Given the description of an element on the screen output the (x, y) to click on. 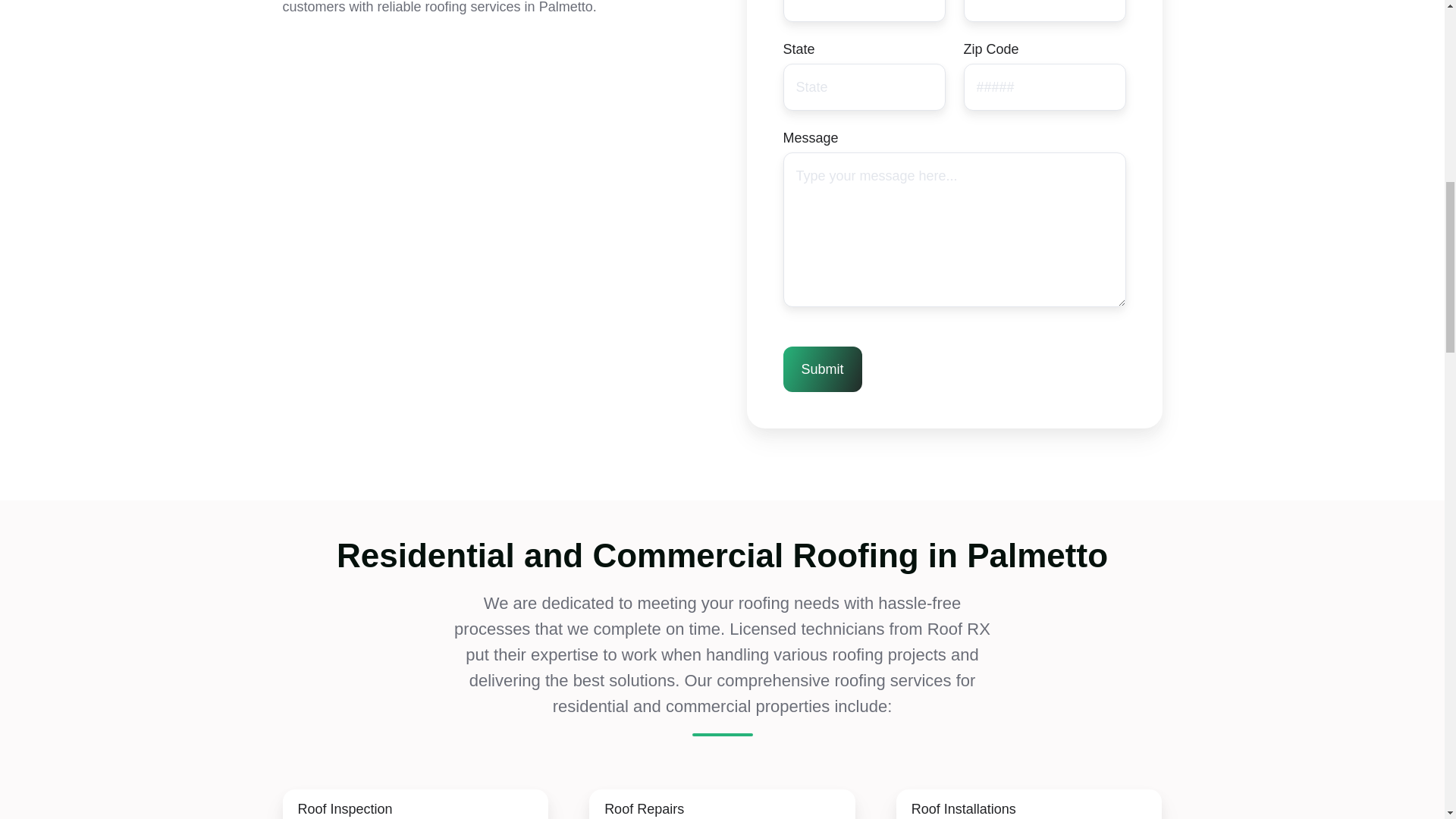
Submit (822, 369)
Submit (822, 369)
